Given the description of an element on the screen output the (x, y) to click on. 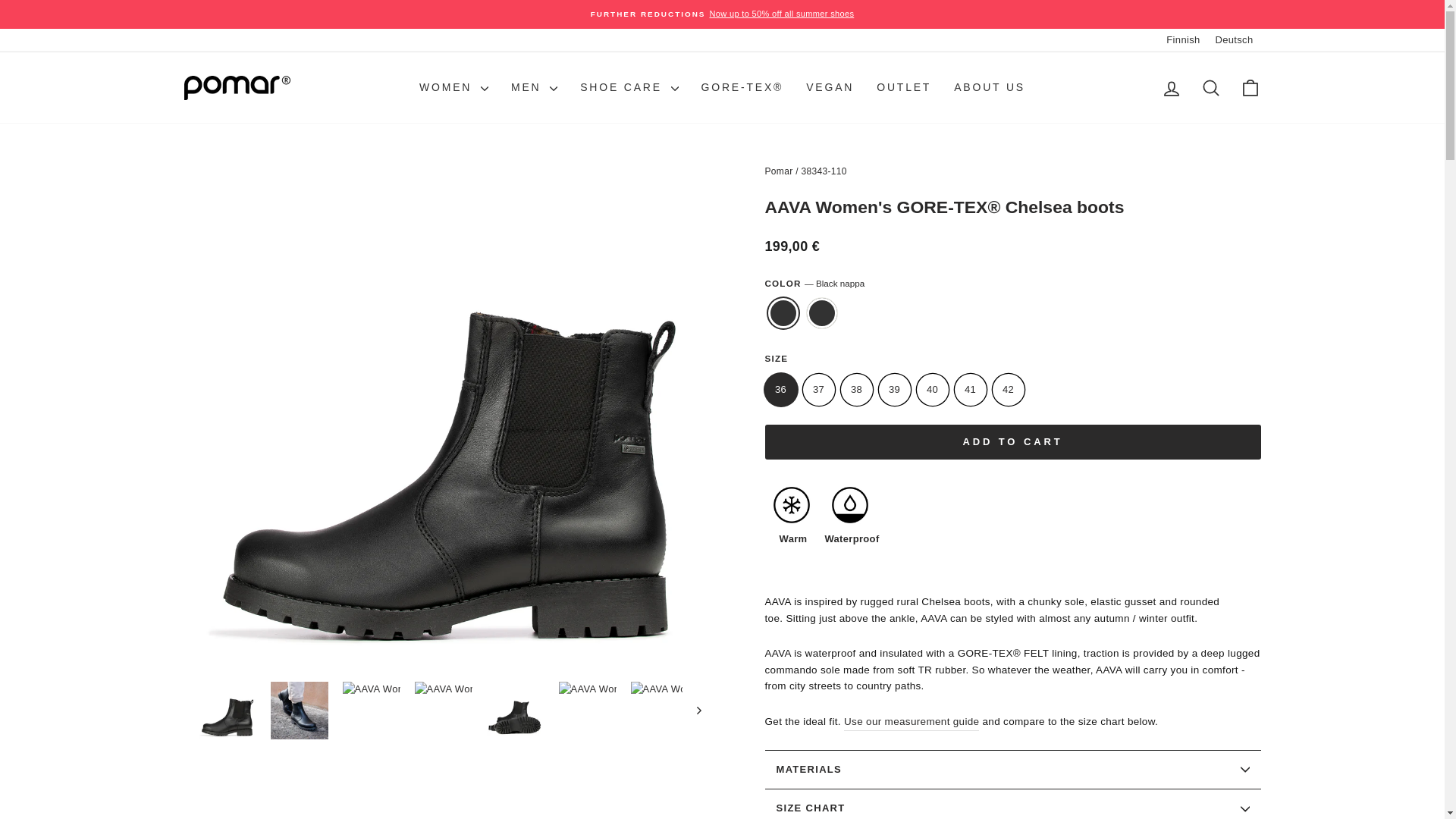
ICON-SEARCH (1210, 87)
Black waxy (821, 313)
ICON-BAG-MINIMAL (1249, 87)
